Given the description of an element on the screen output the (x, y) to click on. 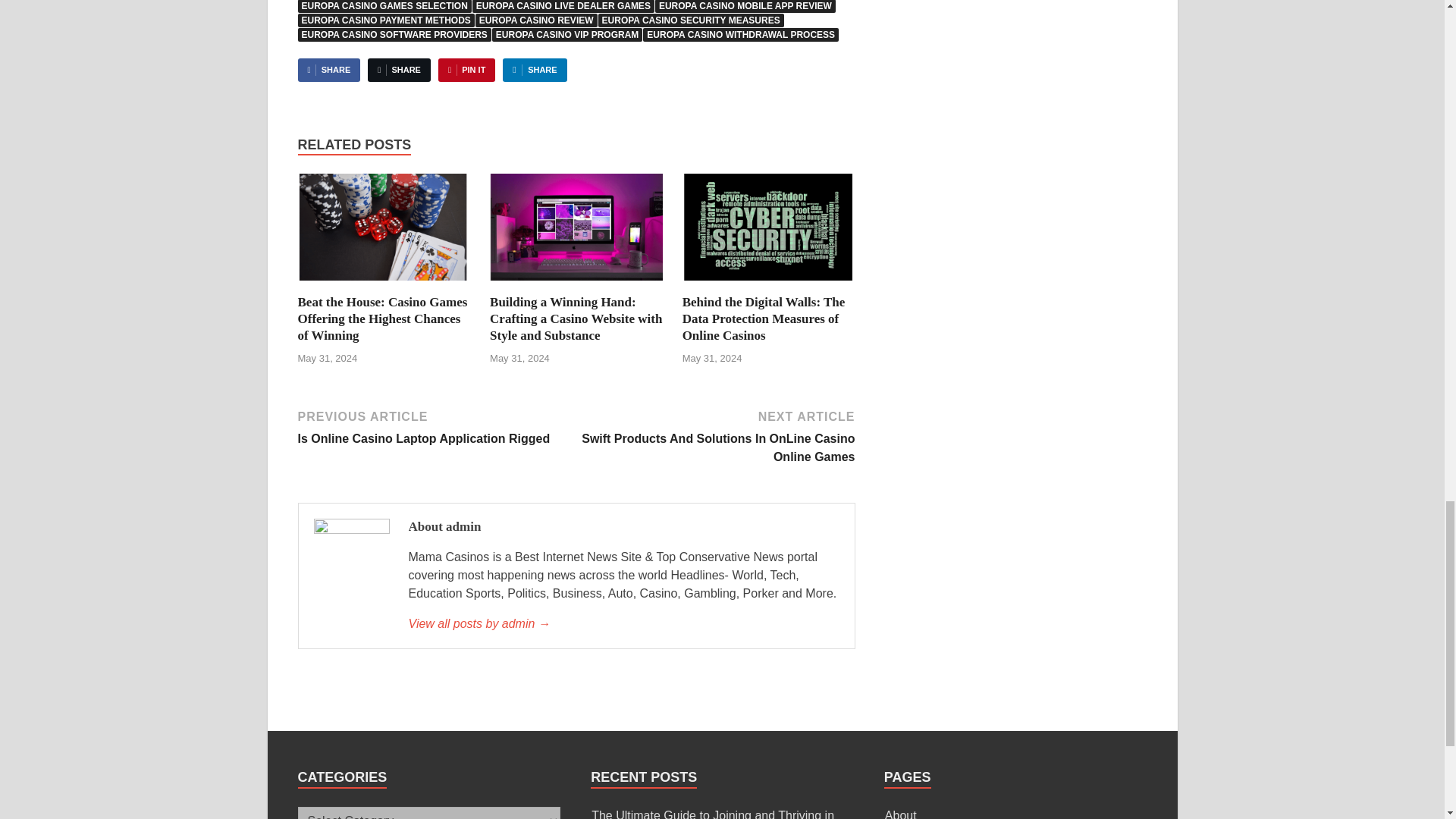
admin (622, 624)
